Given the description of an element on the screen output the (x, y) to click on. 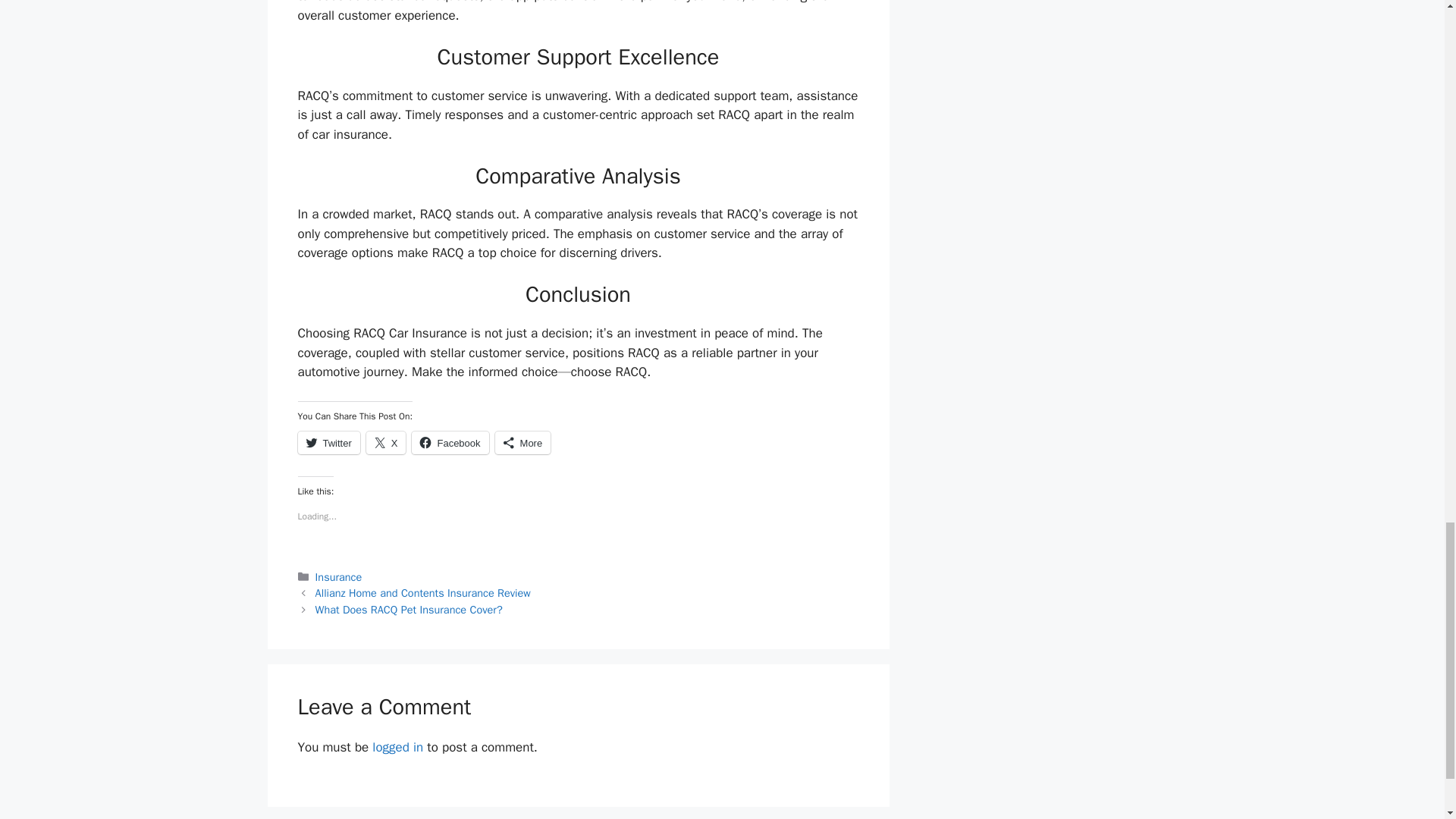
More (523, 442)
Allianz Home and Contents Insurance Review (423, 592)
logged in (397, 747)
Facebook (449, 442)
X (386, 442)
Insurance (338, 576)
Twitter (328, 442)
Click to share on Twitter (328, 442)
Click to share on X (386, 442)
Click to share on Facebook (449, 442)
What Does RACQ Pet Insurance Cover? (408, 609)
